Given the description of an element on the screen output the (x, y) to click on. 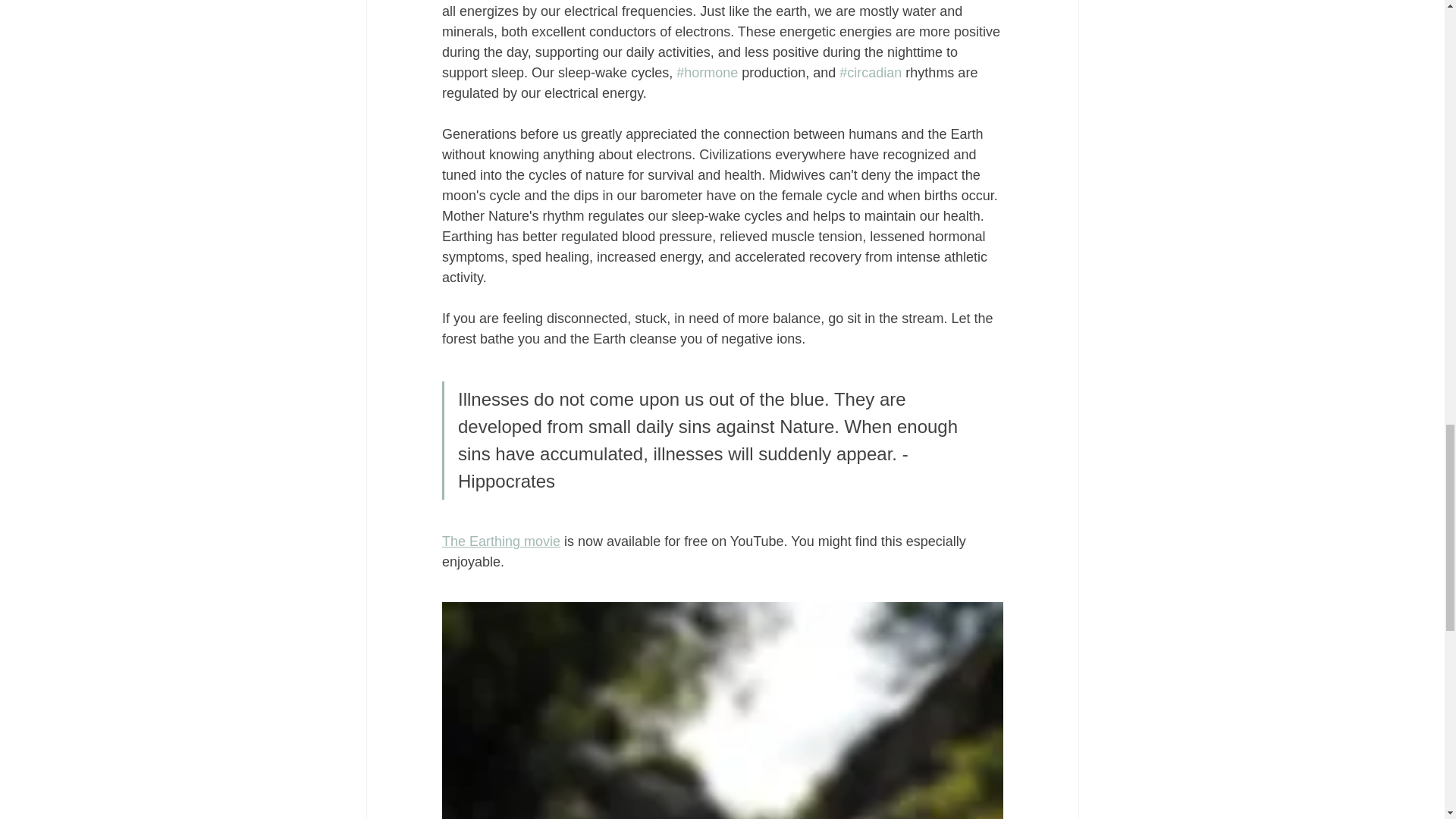
The Earthing movie (500, 540)
